Given the description of an element on the screen output the (x, y) to click on. 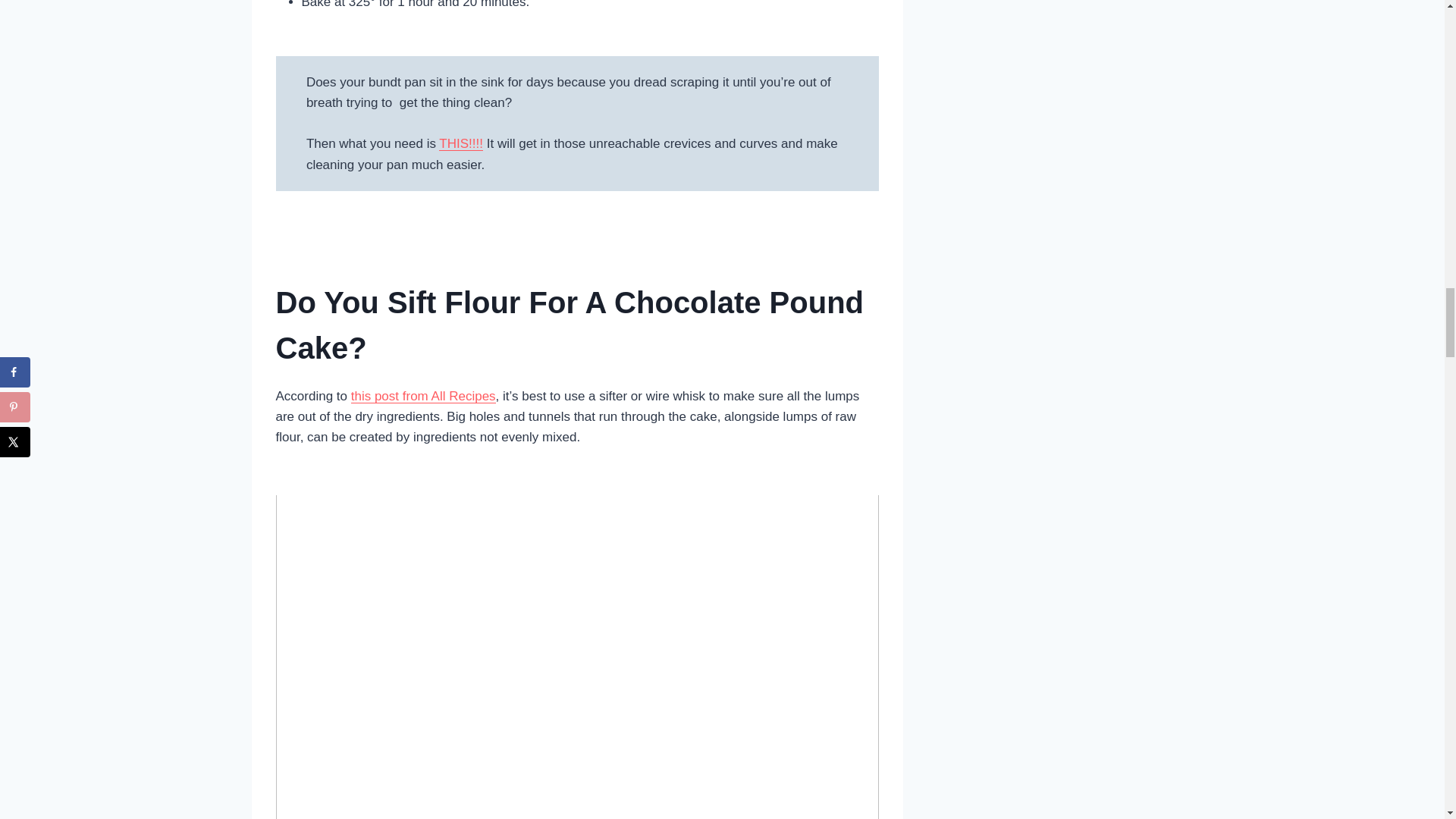
THIS!!!! (461, 143)
this post from All Recipes (423, 396)
